Given the description of an element on the screen output the (x, y) to click on. 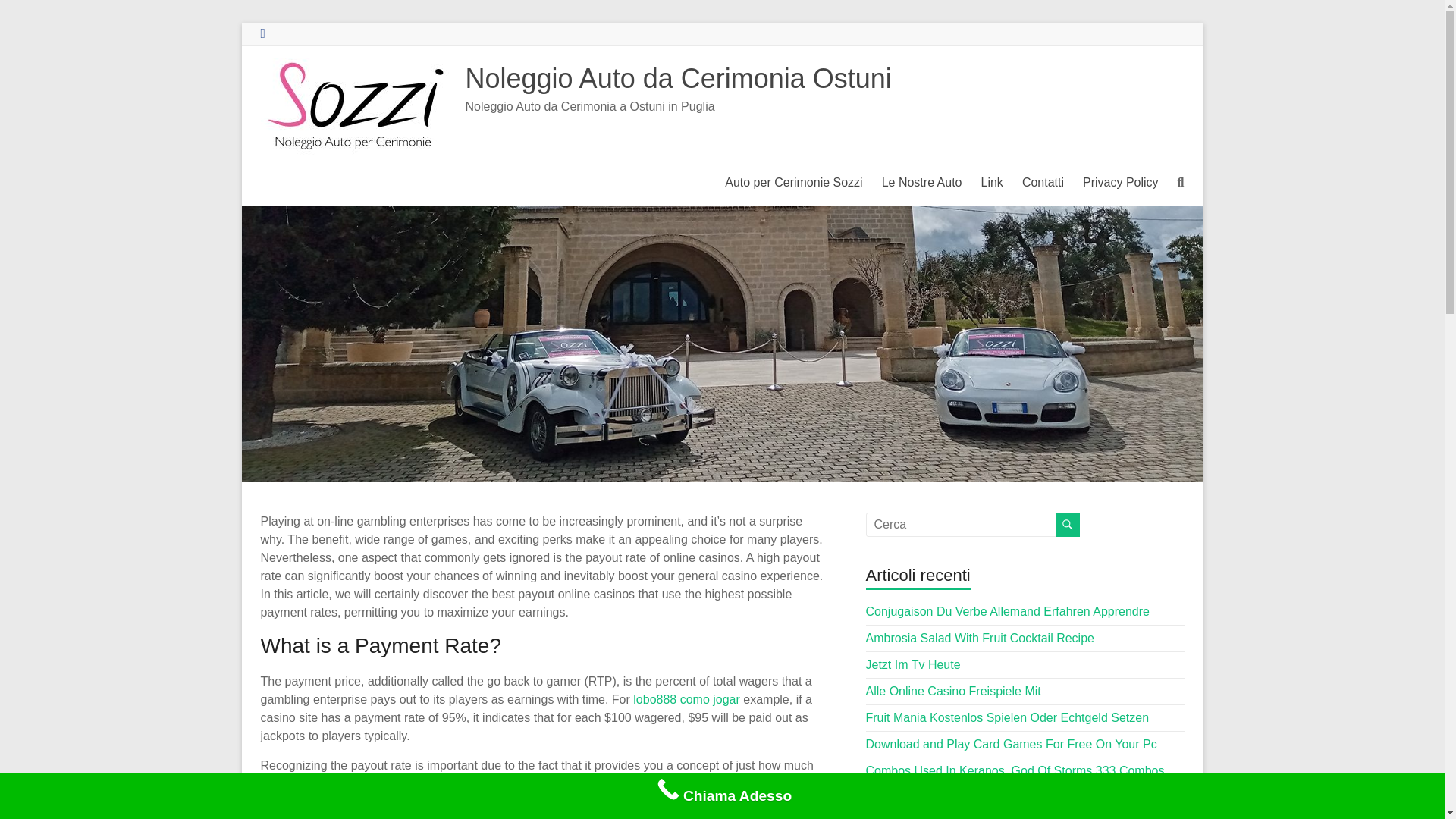
Jetzt Im Tv Heute (913, 664)
Le Nostre Auto (922, 182)
Noleggio Auto da Cerimonia Ostuni (678, 78)
Noleggio Auto da Cerimonia Ostuni (678, 78)
lobo888 como jogar (686, 698)
Conjugaison Du Verbe Allemand Erfahren Apprendre (1008, 611)
Alle Online Casino Freispiele Mit (953, 690)
Ambrosia Salad With Fruit Cocktail Recipe (980, 637)
Auto per Cerimonie Sozzi (793, 182)
Fruit Mania Kostenlos Spielen Oder Echtgeld Setzen (1008, 717)
Privacy Policy (1120, 182)
Download and Play Card Games For Free On Your Pc (1011, 744)
Funky Friday Codes (920, 797)
